Given the description of an element on the screen output the (x, y) to click on. 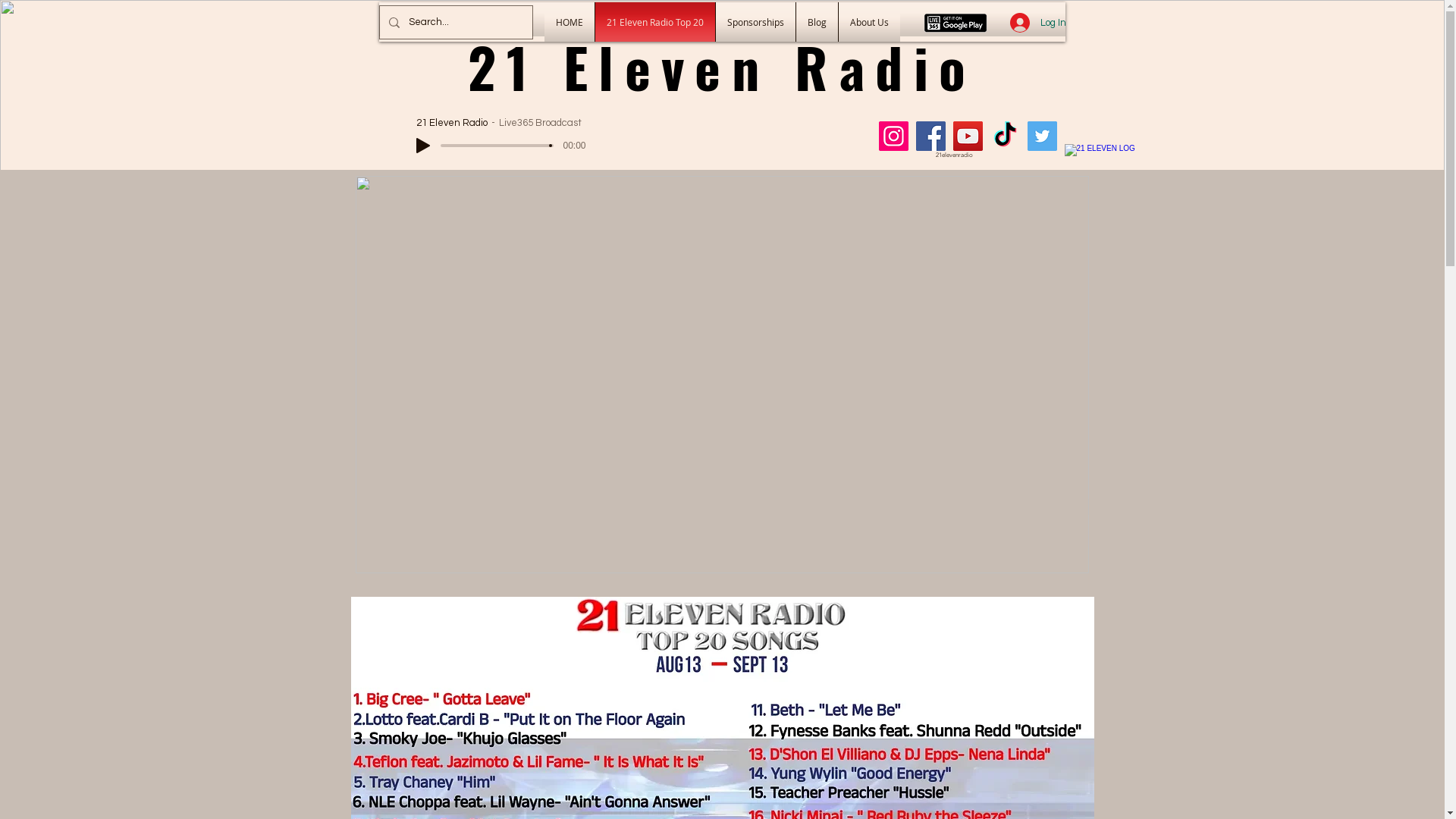
Log In Element type: text (1037, 22)
HOME Element type: text (568, 21)
About Us Element type: text (868, 21)
Sponsorships Element type: text (754, 21)
21 Eleven Radio Element type: text (721, 65)
21 Eleven Radio Top 20 Element type: text (655, 21)
Blog Element type: text (816, 21)
